Given the description of an element on the screen output the (x, y) to click on. 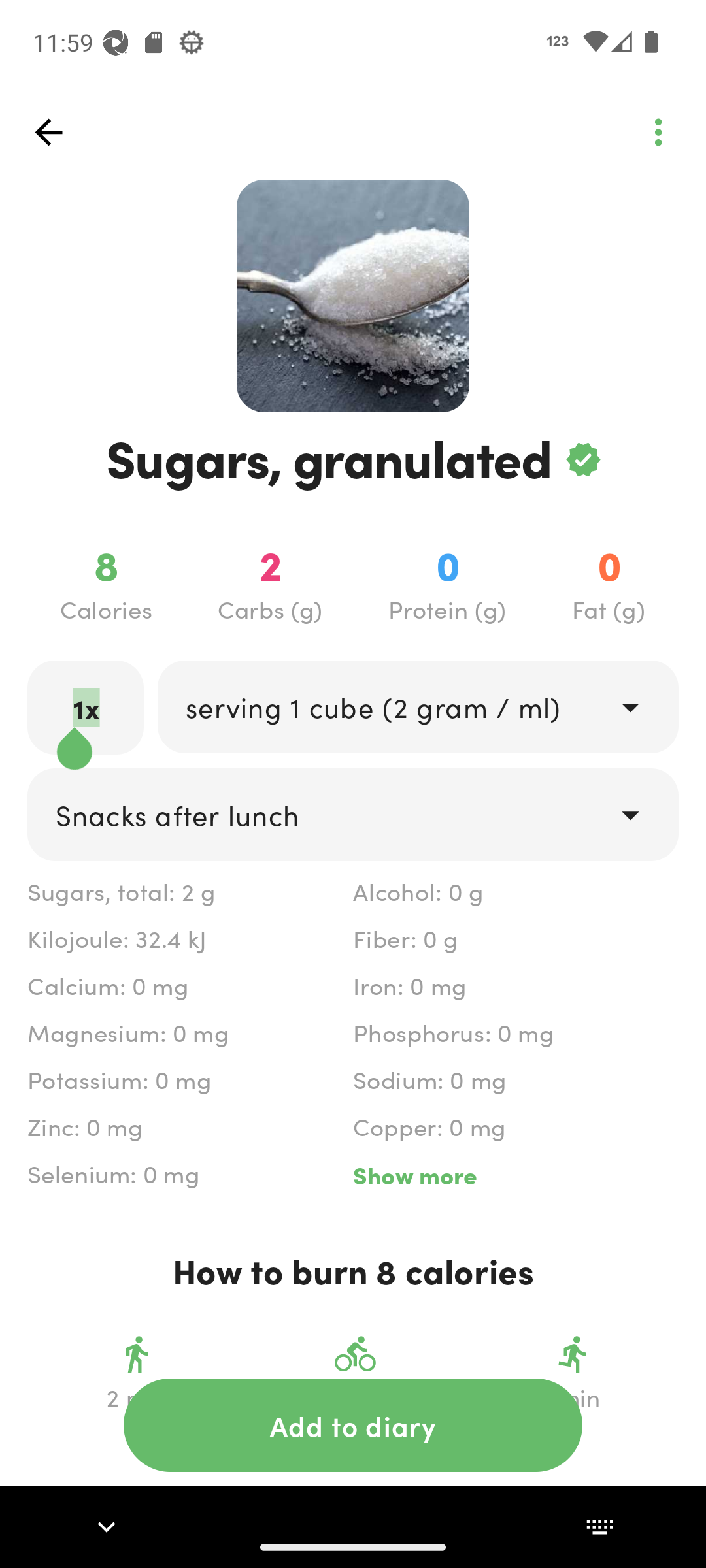
top_left_action (48, 132)
top_left_action (658, 132)
1x labeled_edit_text (85, 707)
drop_down serving 1 cube (2 gram / ml) (417, 706)
drop_down Snacks after lunch (352, 814)
Show more (515, 1174)
action_button Add to diary (352, 1425)
